Given the description of an element on the screen output the (x, y) to click on. 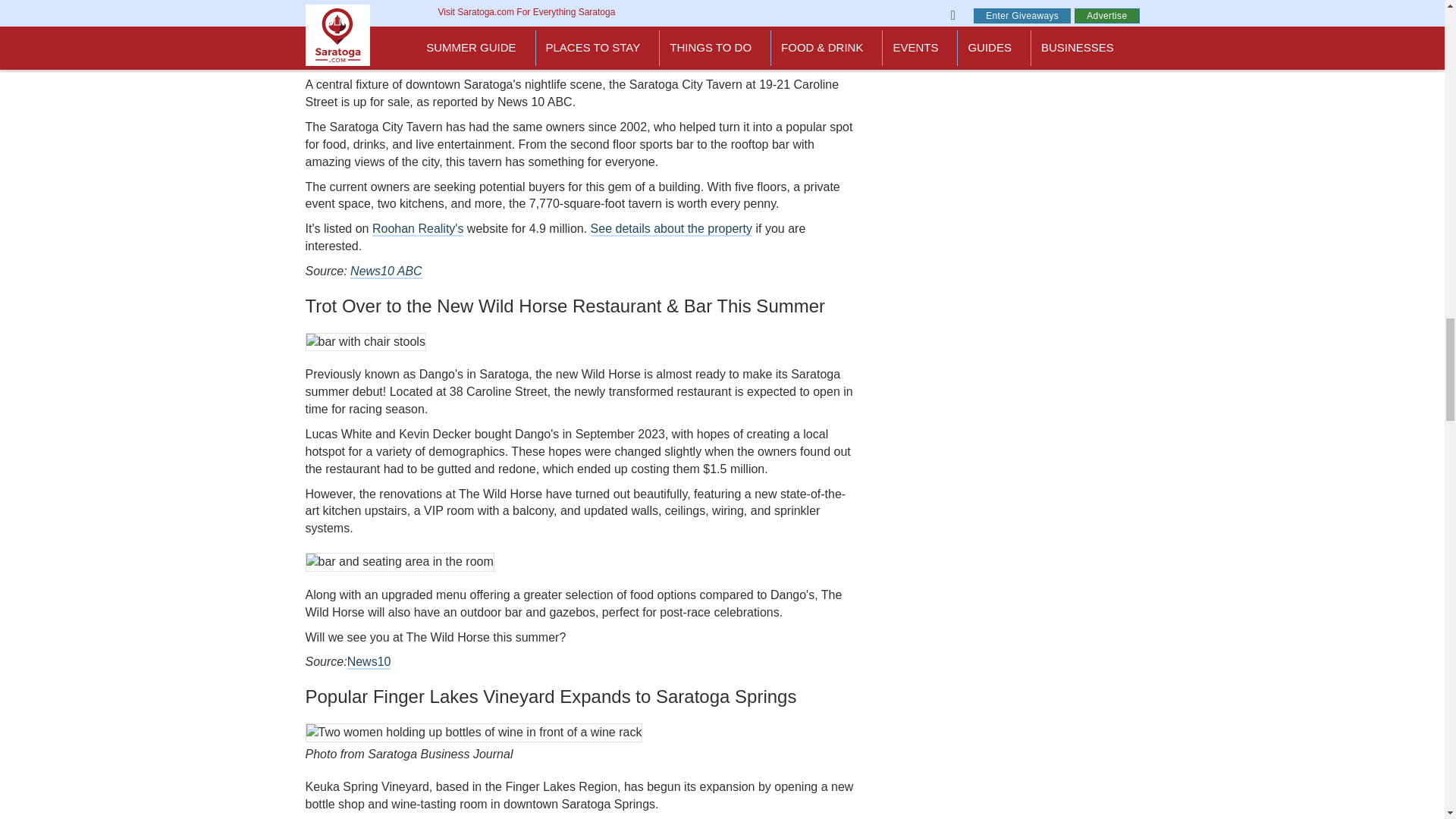
Opens in new window (417, 228)
Opens in new window (671, 228)
Opens in new window (386, 271)
Opens in new window (369, 662)
